Given the description of an element on the screen output the (x, y) to click on. 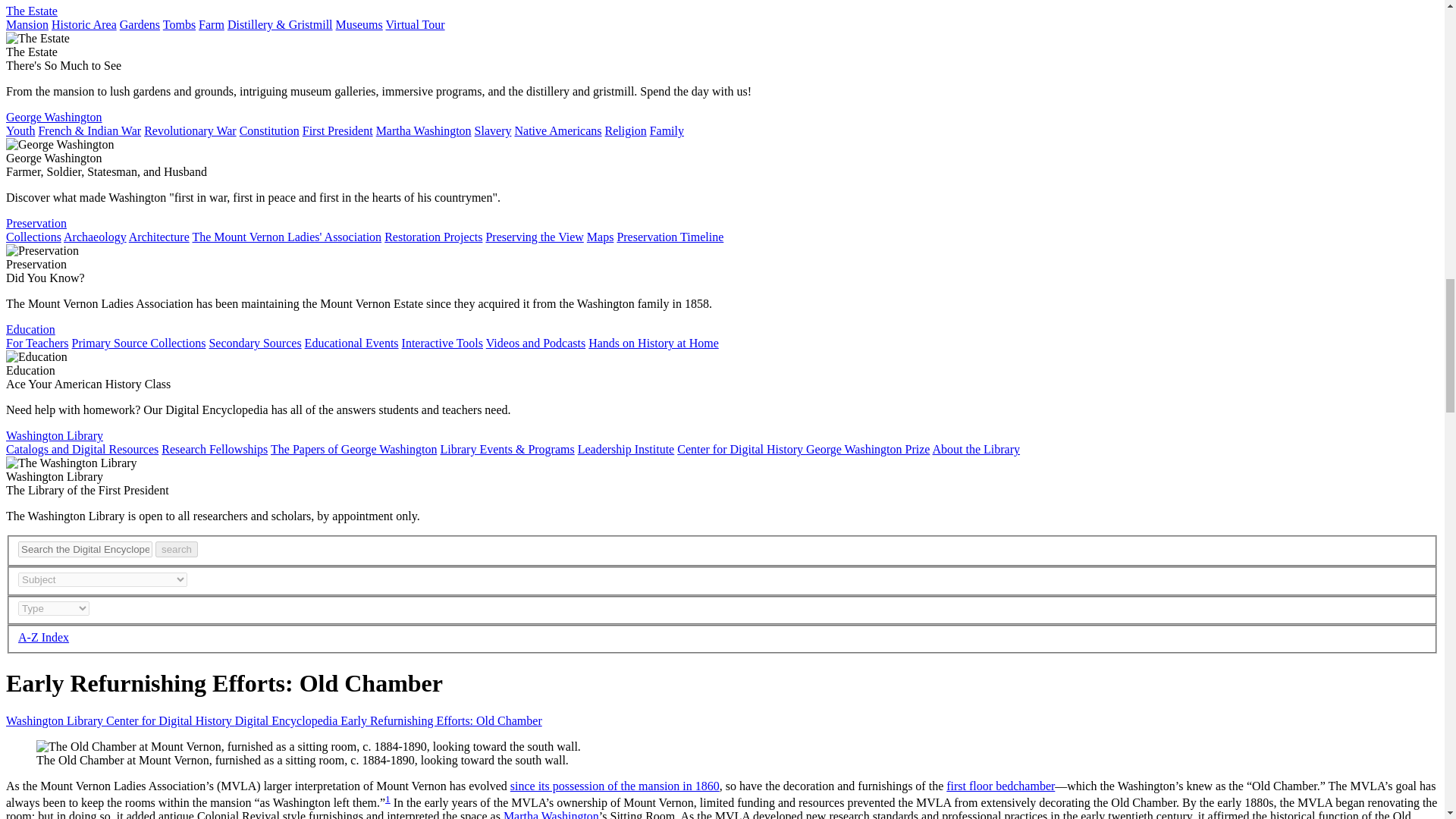
search (176, 549)
The Mount Vernon Estate (31, 10)
Mansion (26, 24)
